Given the description of an element on the screen output the (x, y) to click on. 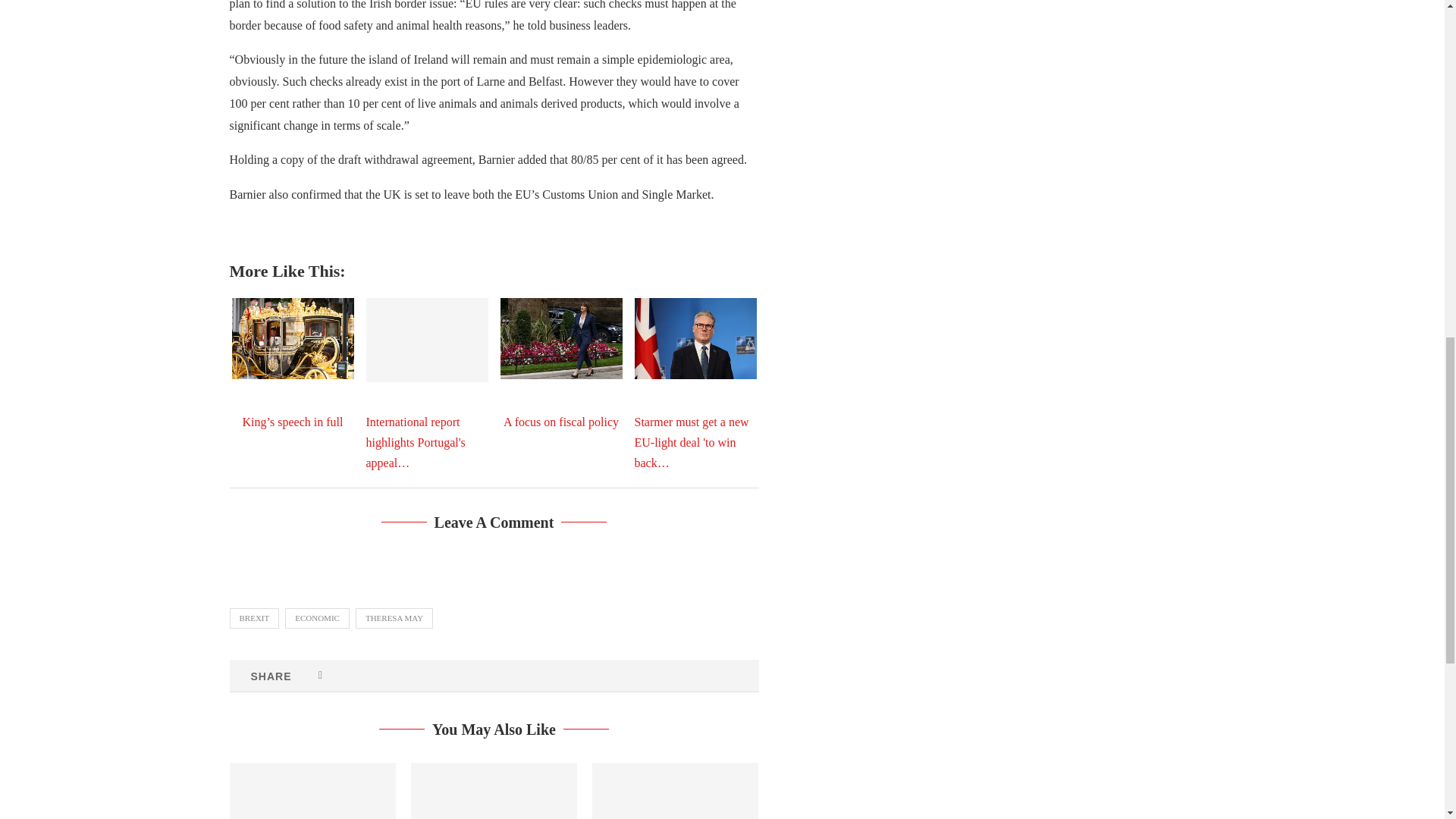
A focus on fiscal policy (561, 338)
